Given the description of an element on the screen output the (x, y) to click on. 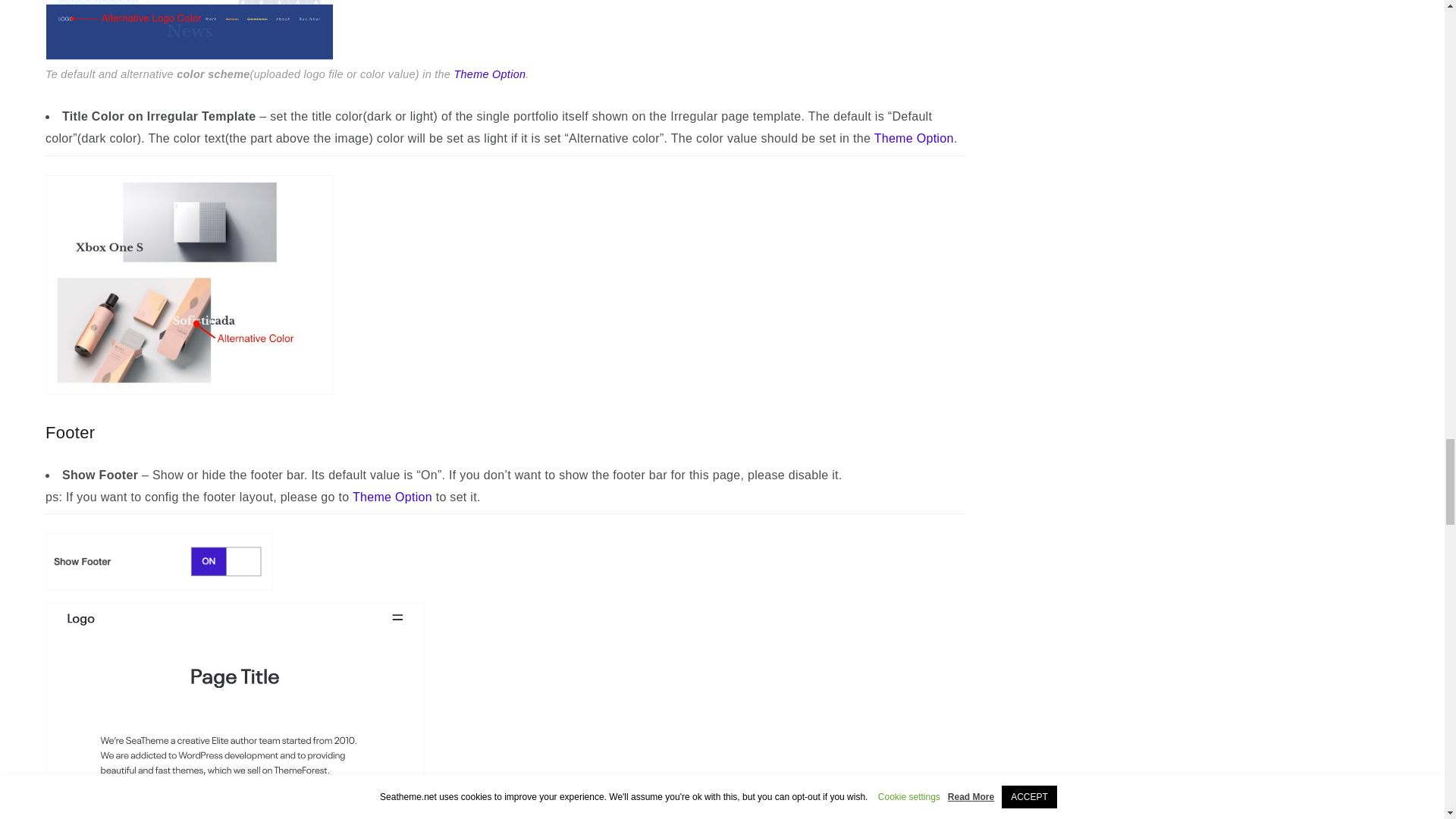
Theme Option (914, 137)
Theme Option (488, 73)
Theme Option (392, 496)
